Given the description of an element on the screen output the (x, y) to click on. 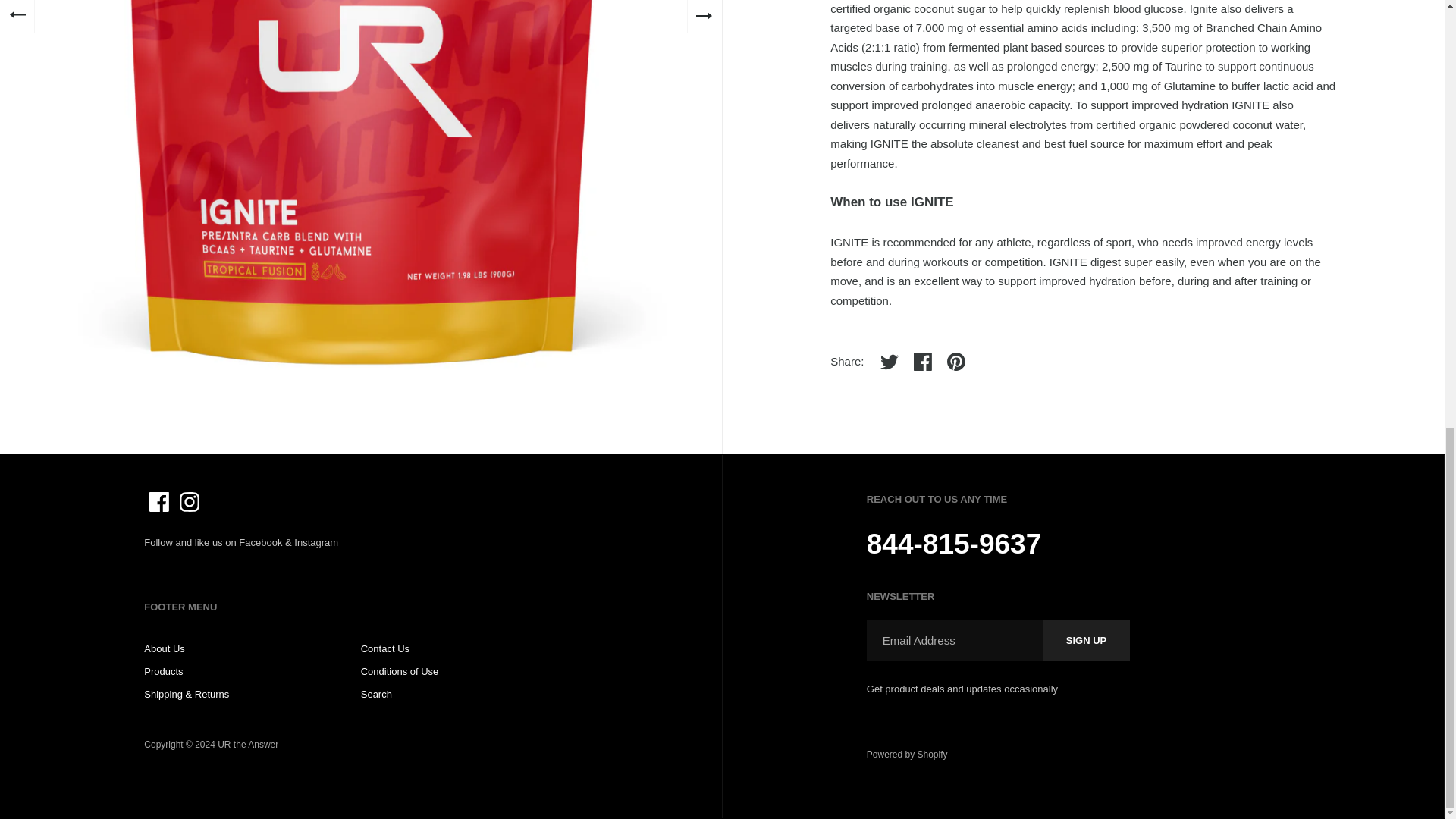
Sign up (1085, 639)
Products (163, 671)
Contact Us (385, 648)
Conditions of Use (400, 671)
About Us (164, 648)
